Given the description of an element on the screen output the (x, y) to click on. 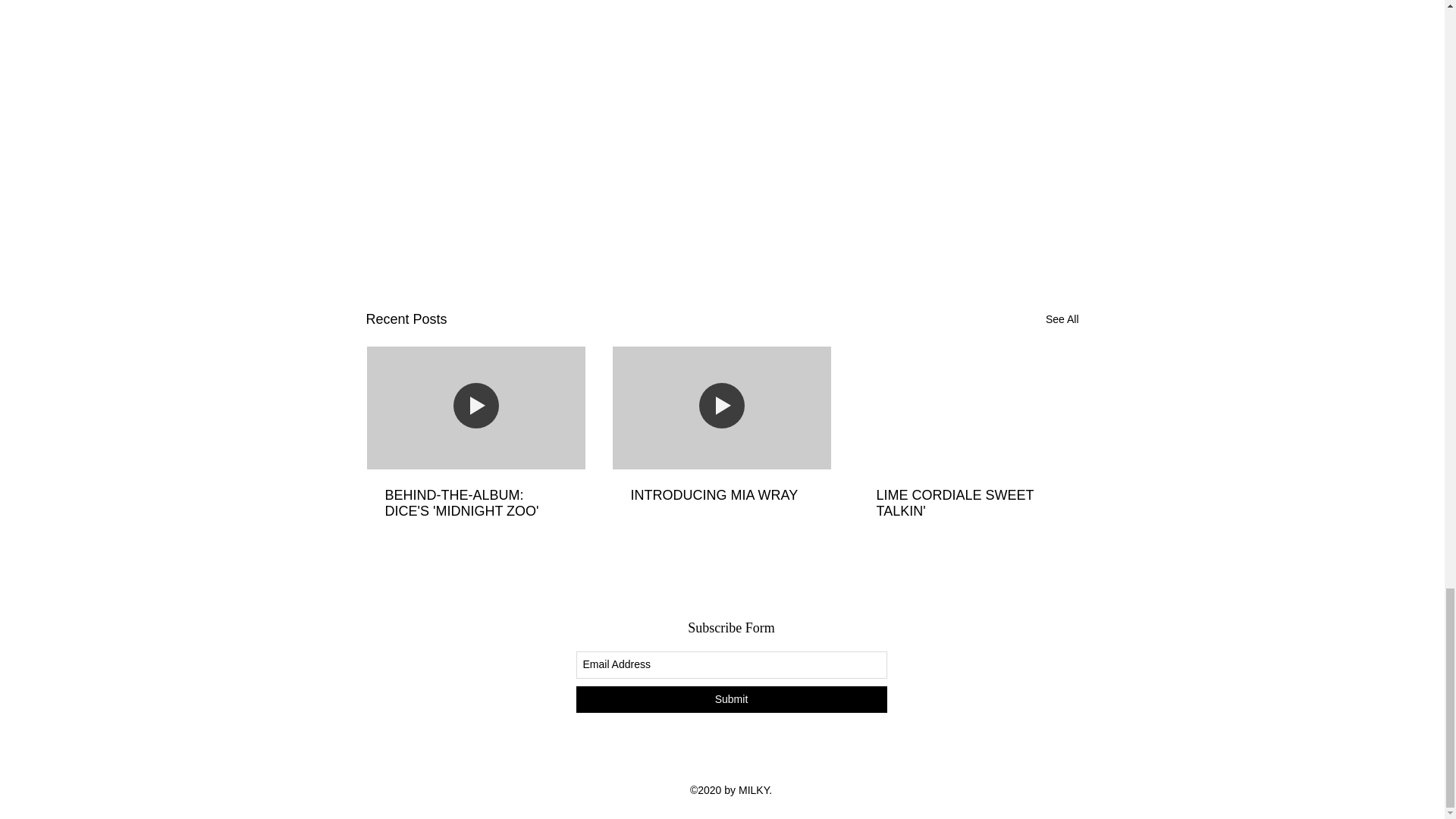
INTRODUCING MIA WRAY (721, 495)
BEHIND-THE-ALBUM: DICE'S 'MIDNIGHT ZOO' (476, 503)
See All (1061, 319)
Submit (731, 699)
LIME CORDIALE SWEET TALKIN' (967, 503)
